Given the description of an element on the screen output the (x, y) to click on. 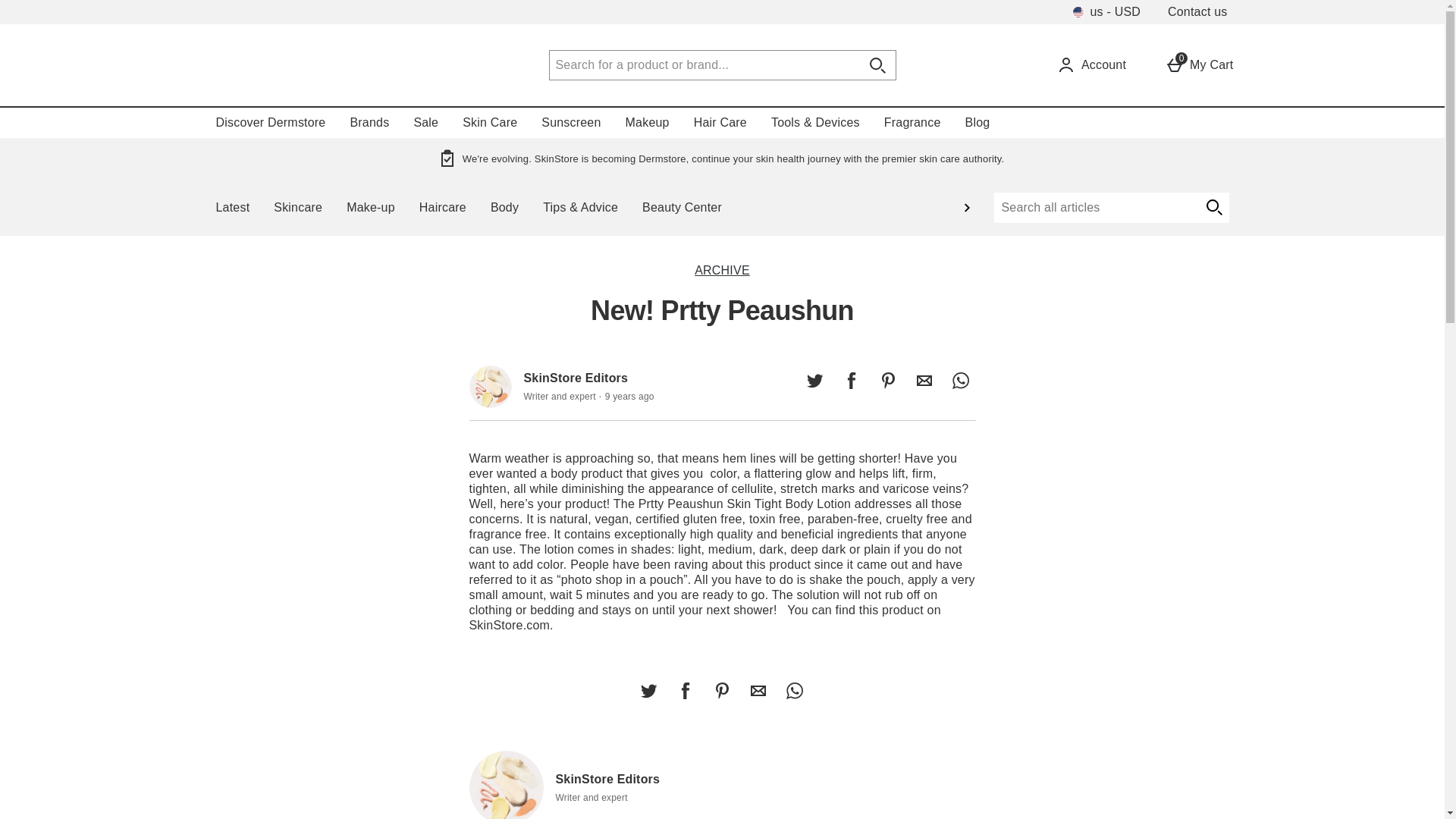
Account (1090, 64)
Share this on WhatsApp (959, 380)
SkinStore Editors (489, 386)
Share this on Facebook (850, 380)
Share this by Email (923, 380)
Search Articles (1095, 207)
Search for a product or brand... (703, 64)
Skip to main content (56, 7)
SkinStore Editors (505, 785)
Share this on Pinterest (721, 690)
start article search (1213, 207)
Share this on Facebook (684, 690)
Share this on Pinterest (1198, 64)
Discover Dermstore (887, 380)
